Given the description of an element on the screen output the (x, y) to click on. 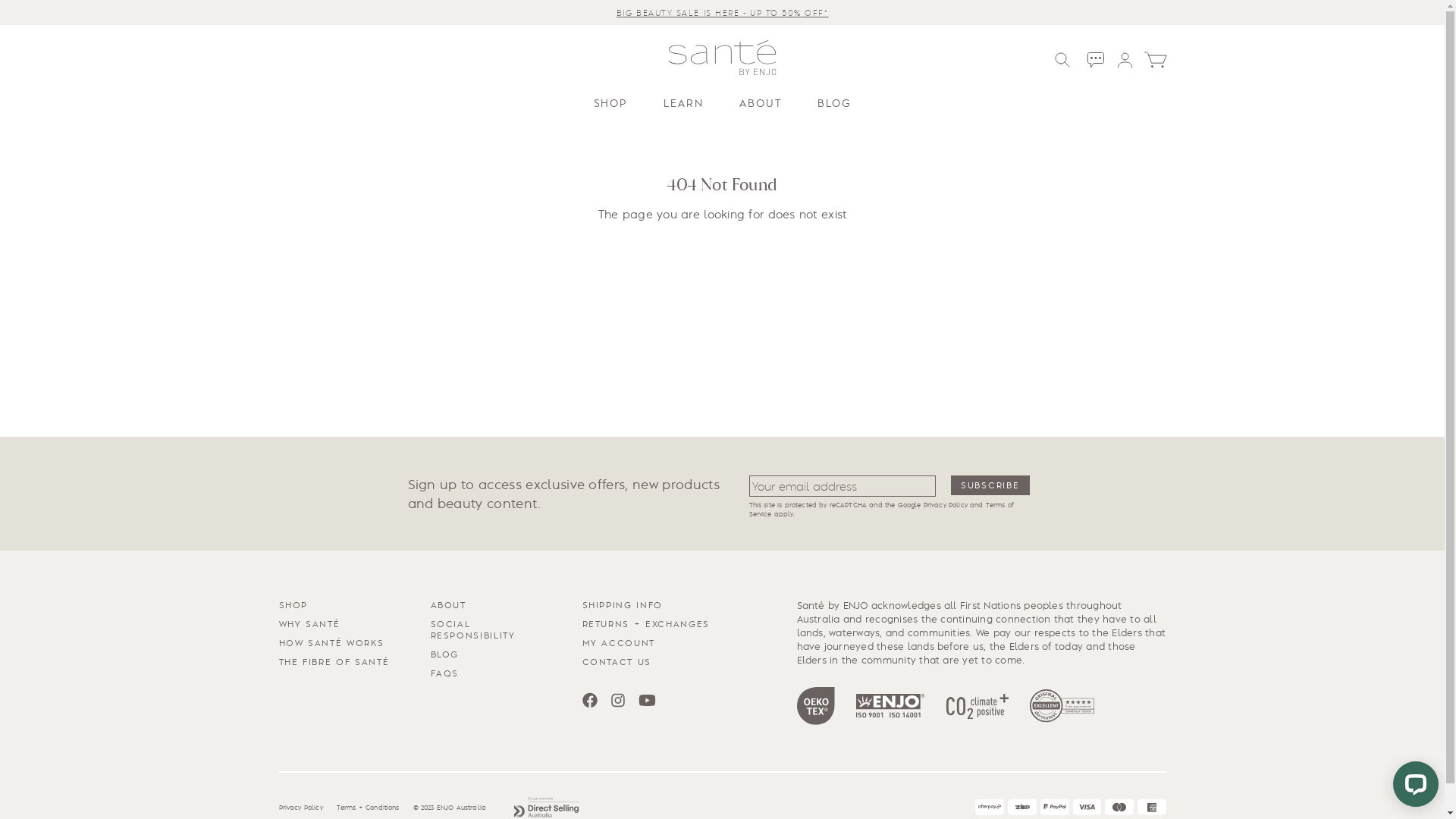
Terms + Conditions Element type: text (367, 806)
Privacy Policy Element type: text (301, 806)
SHIPPING INFO Element type: text (622, 603)
SOCIAL RESPONSIBILITY Element type: text (472, 628)
ABOUT Element type: text (448, 603)
BIG BEAUTY SALE IS HERE - UP TO 50% OFF* Element type: text (722, 12)
FAQS Element type: text (444, 671)
BLOG Element type: text (834, 102)
Privacy Policy Element type: text (945, 503)
BLOG Element type: text (444, 652)
LEARN Element type: text (682, 102)
MY ACCOUNT Element type: text (618, 641)
ABOUT Element type: text (760, 102)
RETURNS + EXCHANGES Element type: text (645, 622)
SHOP Element type: text (610, 102)
SHOP Element type: text (293, 603)
Terms of Service Element type: text (881, 508)
SUBSCRIBE Element type: text (989, 485)
CONTACT US Element type: text (617, 660)
